Given the description of an element on the screen output the (x, y) to click on. 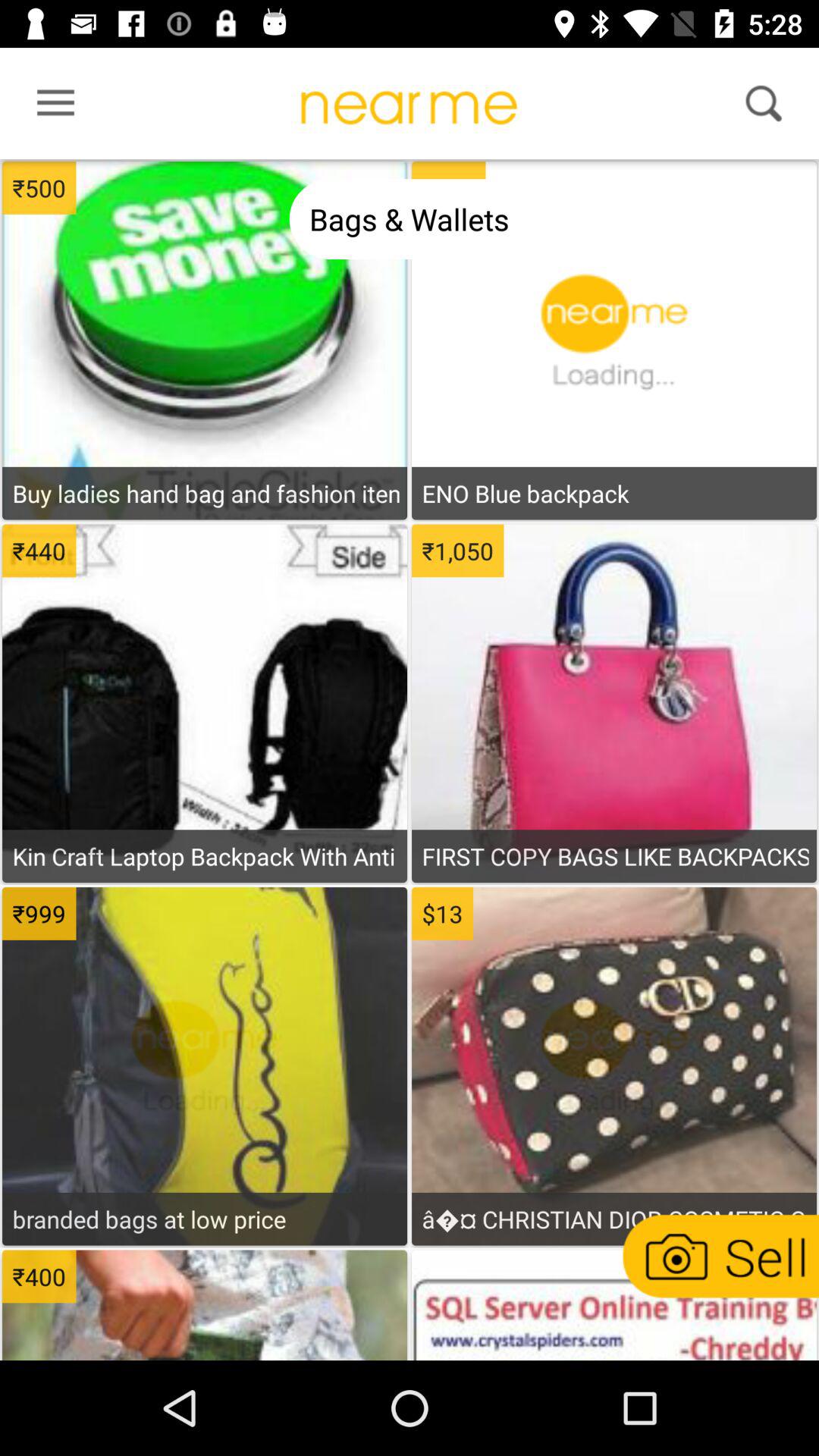
save money bag (613, 1087)
